Given the description of an element on the screen output the (x, y) to click on. 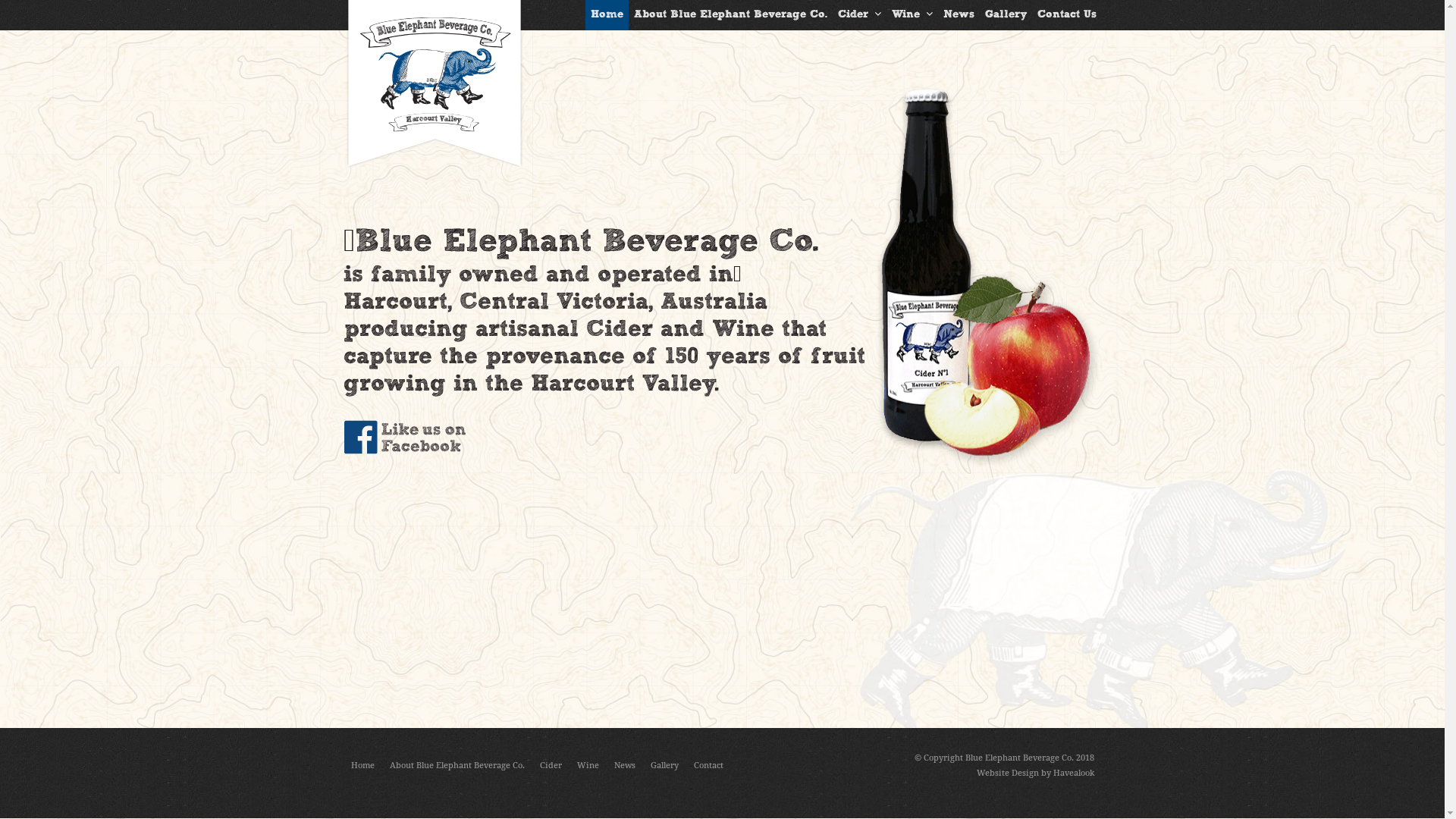
Gallery Element type: text (1005, 15)
Website Design Element type: text (1007, 773)
Cider Element type: text (550, 765)
Contact Us Element type: text (1066, 15)
Wine Element type: text (911, 15)
Home Element type: text (606, 15)
Contact Element type: text (707, 765)
About Blue Elephant Beverage Co. Element type: text (729, 15)
Home Element type: text (361, 765)
News Element type: text (958, 15)
Cider Element type: text (859, 15)
News Element type: text (624, 765)
Wine Element type: text (586, 765)
Gallery Element type: text (664, 765)
About Blue Elephant Beverage Co. Element type: text (457, 765)
